Given the description of an element on the screen output the (x, y) to click on. 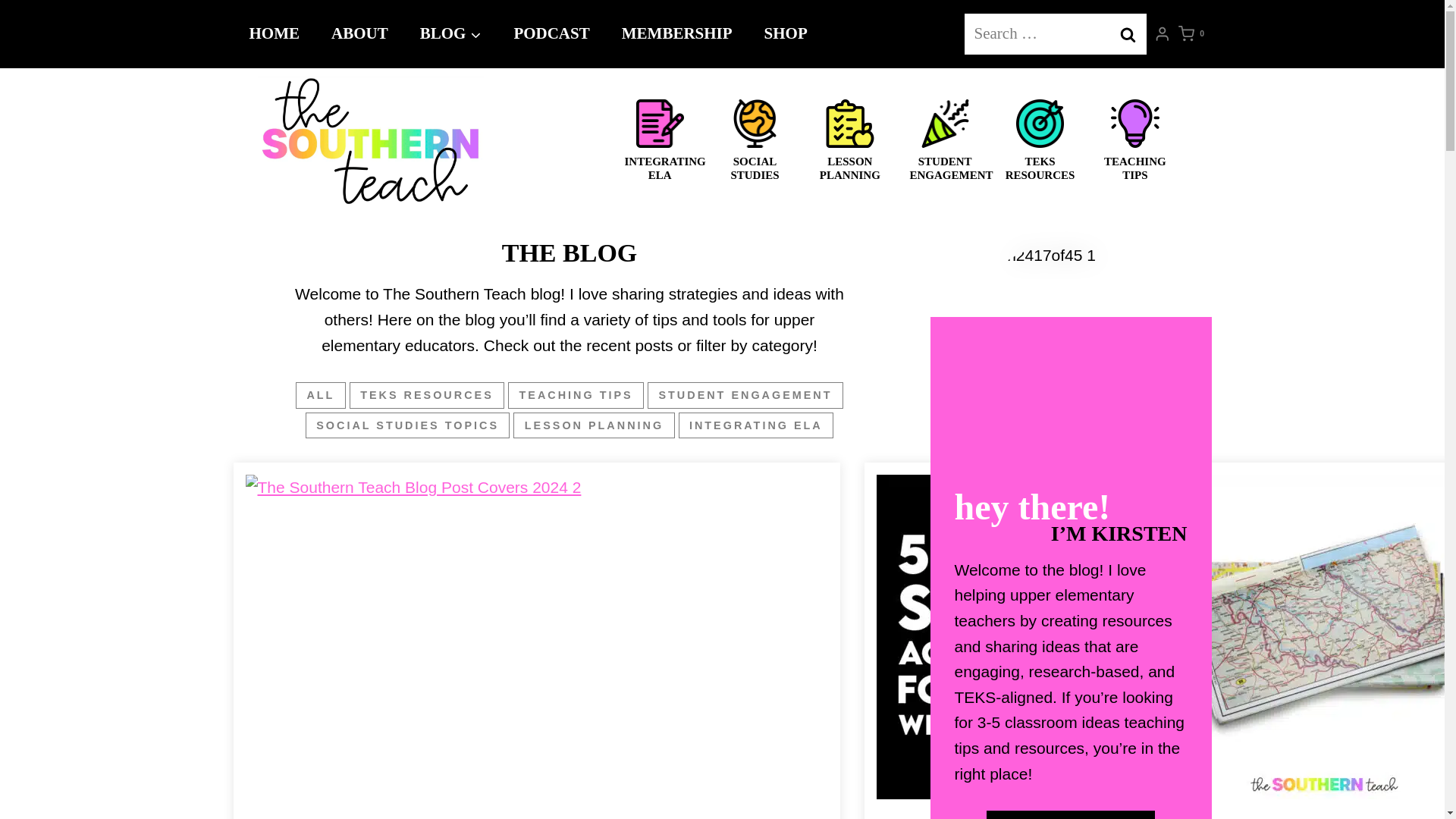
ALL (320, 395)
TEACHING TIPS (575, 395)
MEMBERSHIP (676, 34)
SOCIAL STUDIES TOPICS (408, 425)
BLOG (450, 34)
Search (1127, 33)
SHOP (786, 34)
Search (1127, 33)
INTEGRATING ELA (756, 425)
STUDENT ENGAGEMENT (745, 395)
TEKS RESOURCES (426, 395)
LESSON PLANNING (593, 425)
Search (1127, 33)
ABOUT (359, 34)
HOME (273, 34)
